Given the description of an element on the screen output the (x, y) to click on. 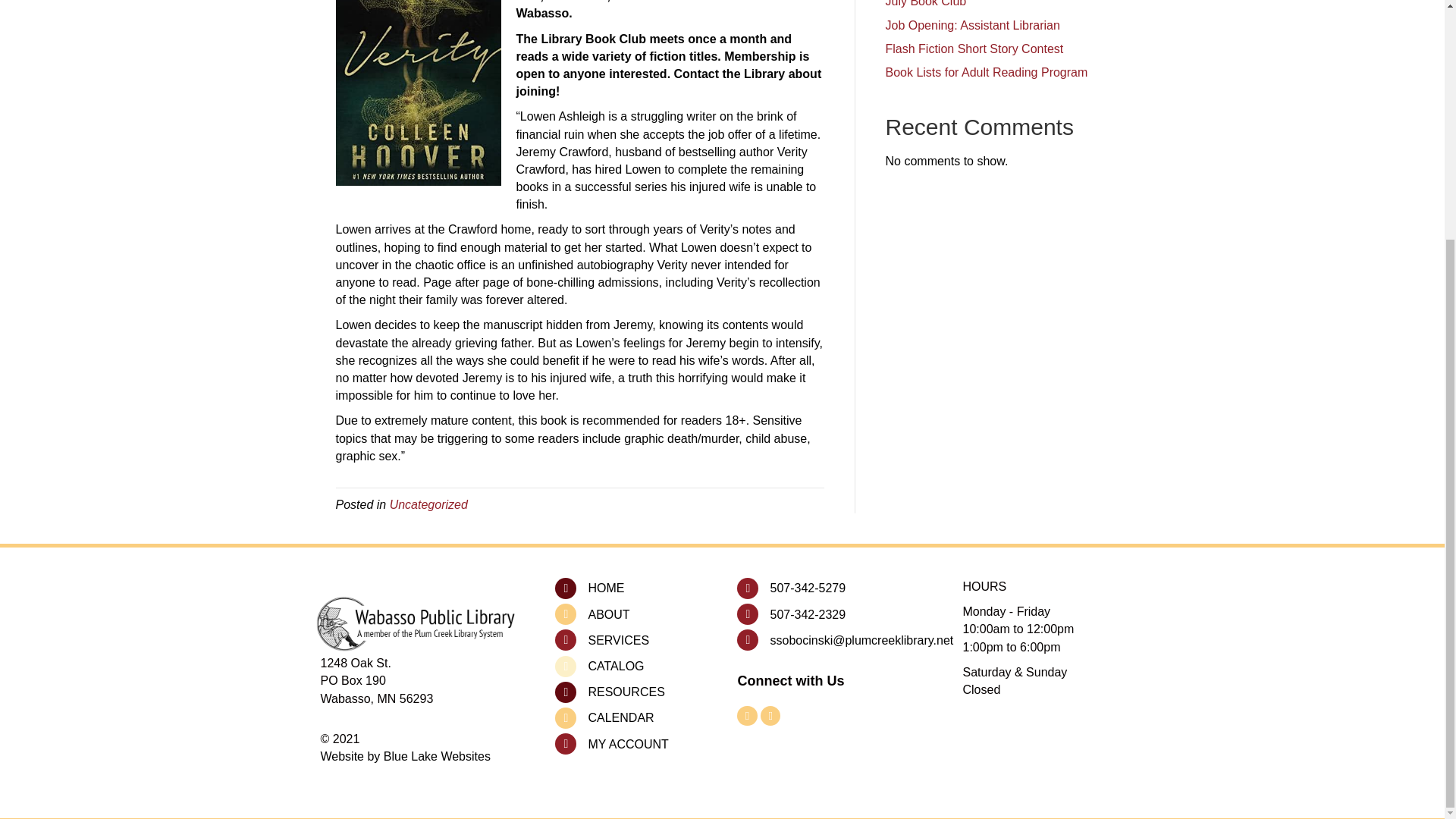
Website by Blue Lake Websites (404, 756)
Flash Fiction Short Story Contest (974, 48)
Uncategorized (428, 504)
ABOUT (608, 614)
Book Lists for Adult Reading Program (986, 72)
Job Opening: Assistant Librarian (972, 24)
RESOURCES (625, 692)
July Book Club (925, 3)
MY ACCOUNT (628, 743)
HOME (606, 588)
SERVICES (618, 640)
CATALOG (615, 665)
CALENDAR (620, 717)
